Given the description of an element on the screen output the (x, y) to click on. 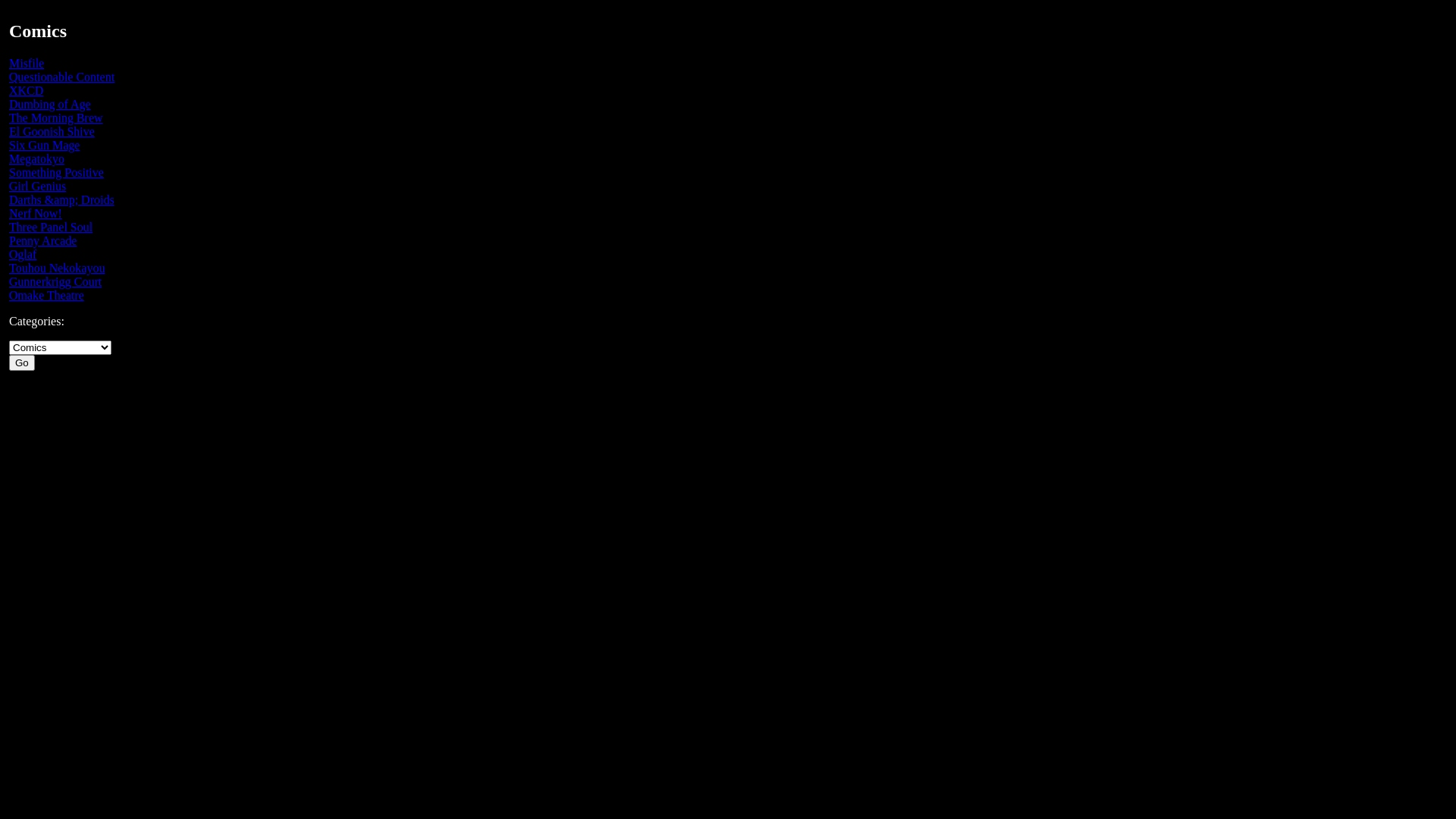
Dumbing of Age Element type: text (50, 103)
The Morning Brew Element type: text (56, 117)
Darths &amp; Droids Element type: text (61, 199)
Questionable Content Element type: text (61, 76)
Gunnerkrigg Court Element type: text (55, 281)
Six Gun Mage Element type: text (44, 144)
Three Panel Soul Element type: text (50, 226)
El Goonish Shive Element type: text (51, 131)
XKCD Element type: text (26, 90)
Touhou Nekokayou Element type: text (56, 267)
Omake Theatre Element type: text (46, 294)
Penny Arcade Element type: text (42, 240)
Megatokyo Element type: text (36, 158)
Girl Genius Element type: text (37, 185)
Nerf Now! Element type: text (35, 213)
Oglaf Element type: text (22, 253)
Go Element type: text (21, 362)
Something Positive Element type: text (56, 172)
Misfile Element type: text (26, 62)
